Given the description of an element on the screen output the (x, y) to click on. 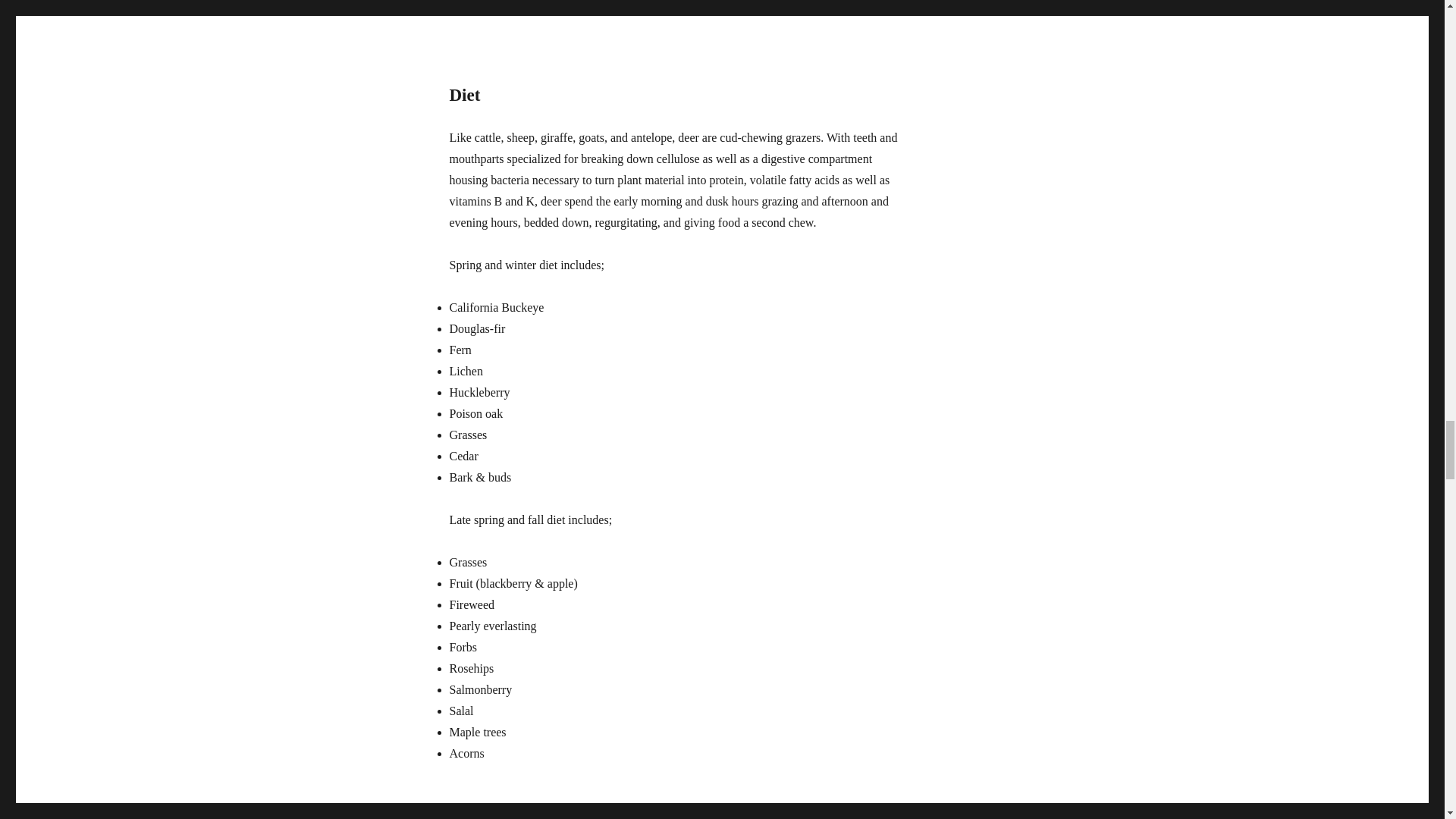
Mule Deer Birth (676, 21)
